Given the description of an element on the screen output the (x, y) to click on. 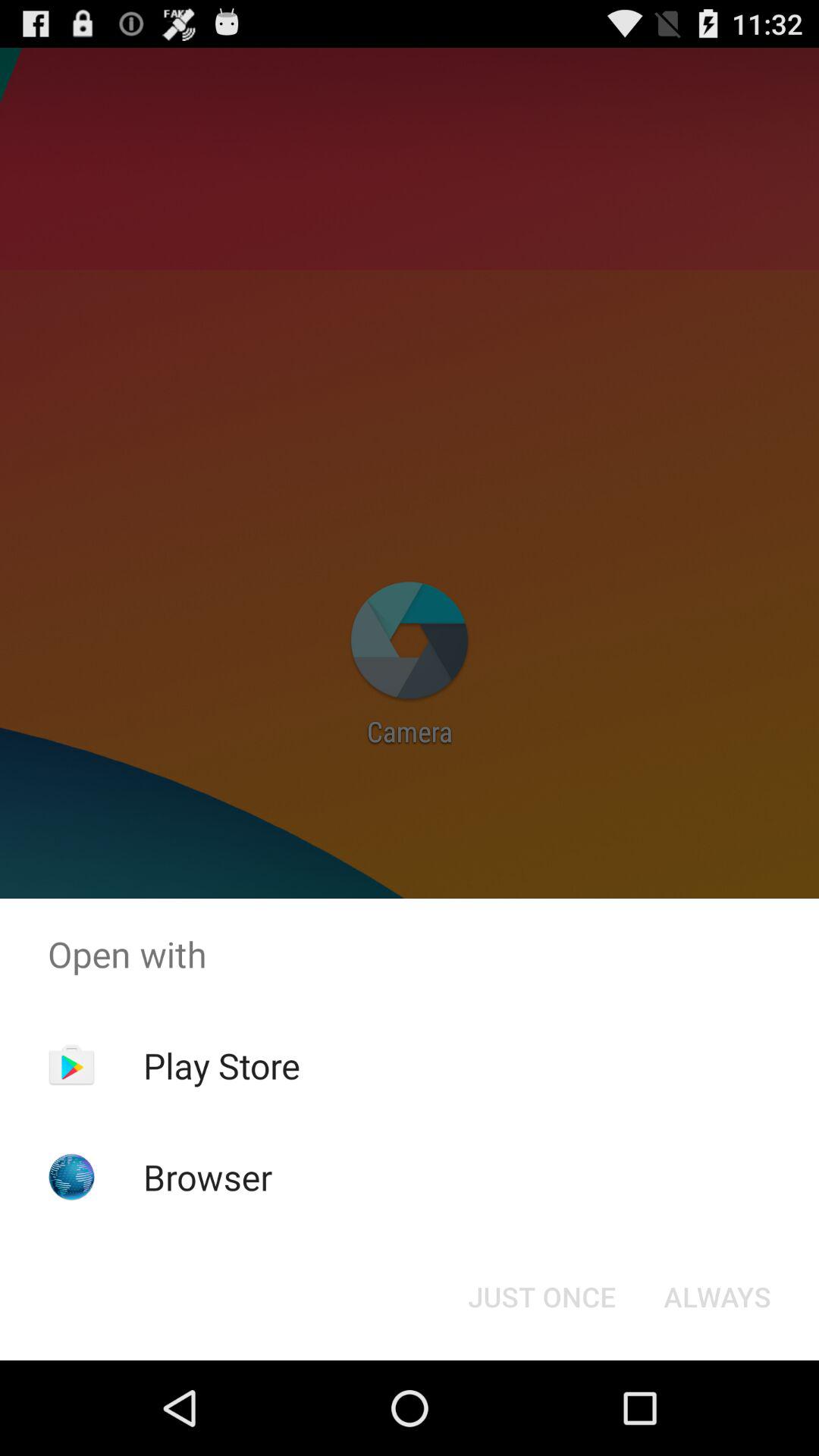
turn off item below the open with app (221, 1065)
